Given the description of an element on the screen output the (x, y) to click on. 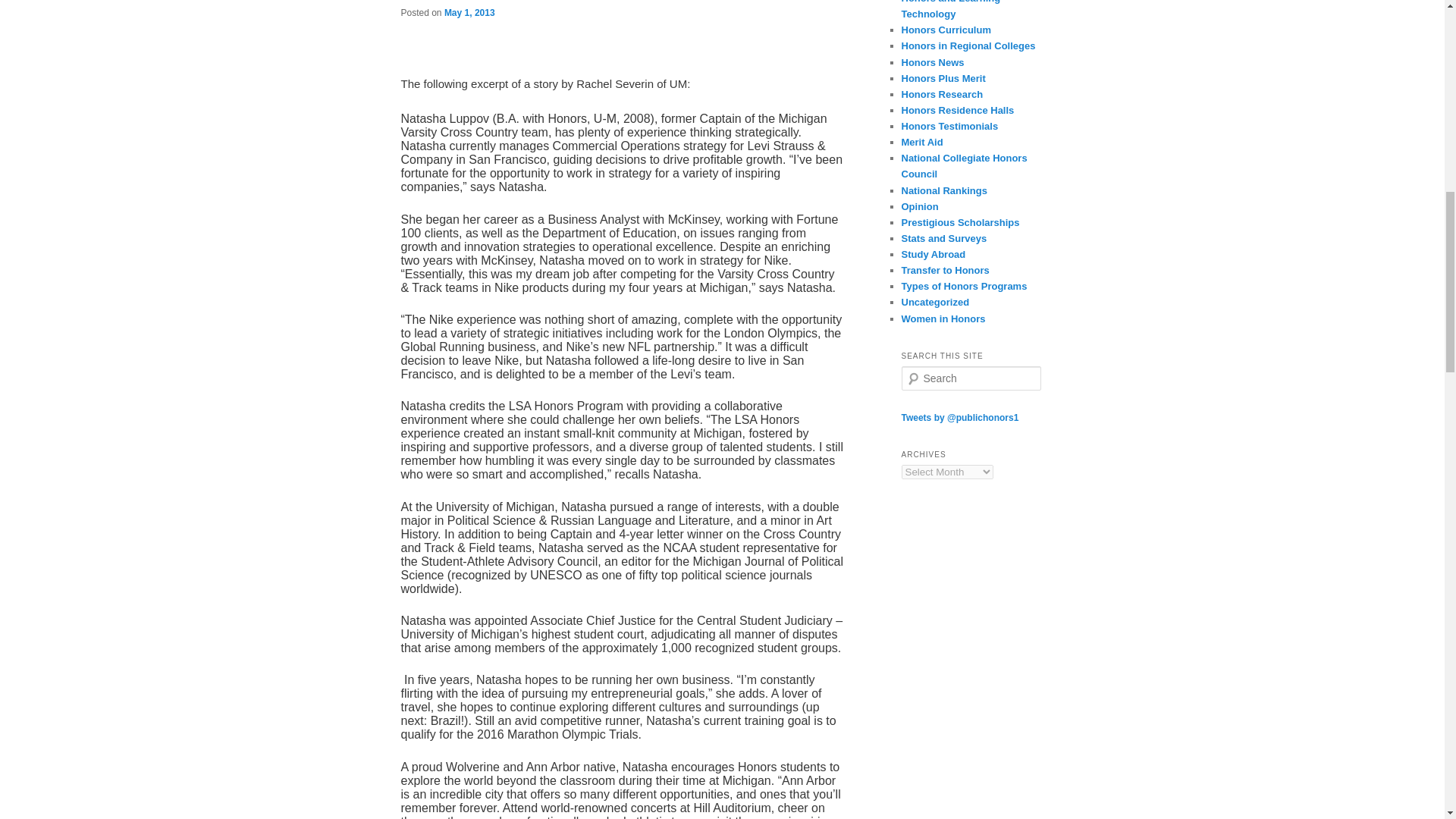
May 1, 2013 (469, 12)
Honors in Regional Colleges (968, 45)
Honors Curriculum (945, 30)
Honors and Learning Technology (950, 9)
1:03 pm (469, 12)
